Given the description of an element on the screen output the (x, y) to click on. 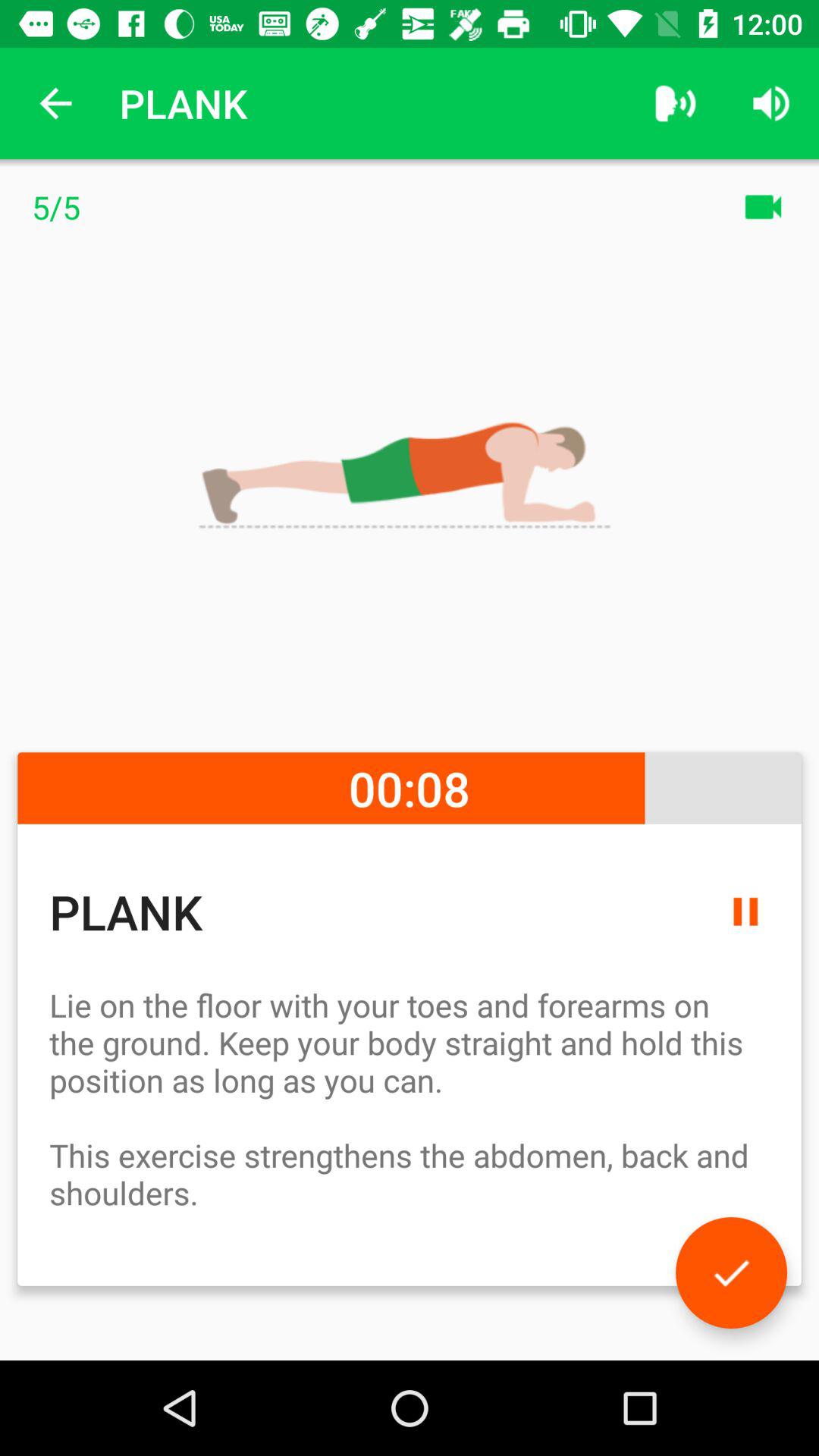
tap the item next to the plank item (675, 103)
